Given the description of an element on the screen output the (x, y) to click on. 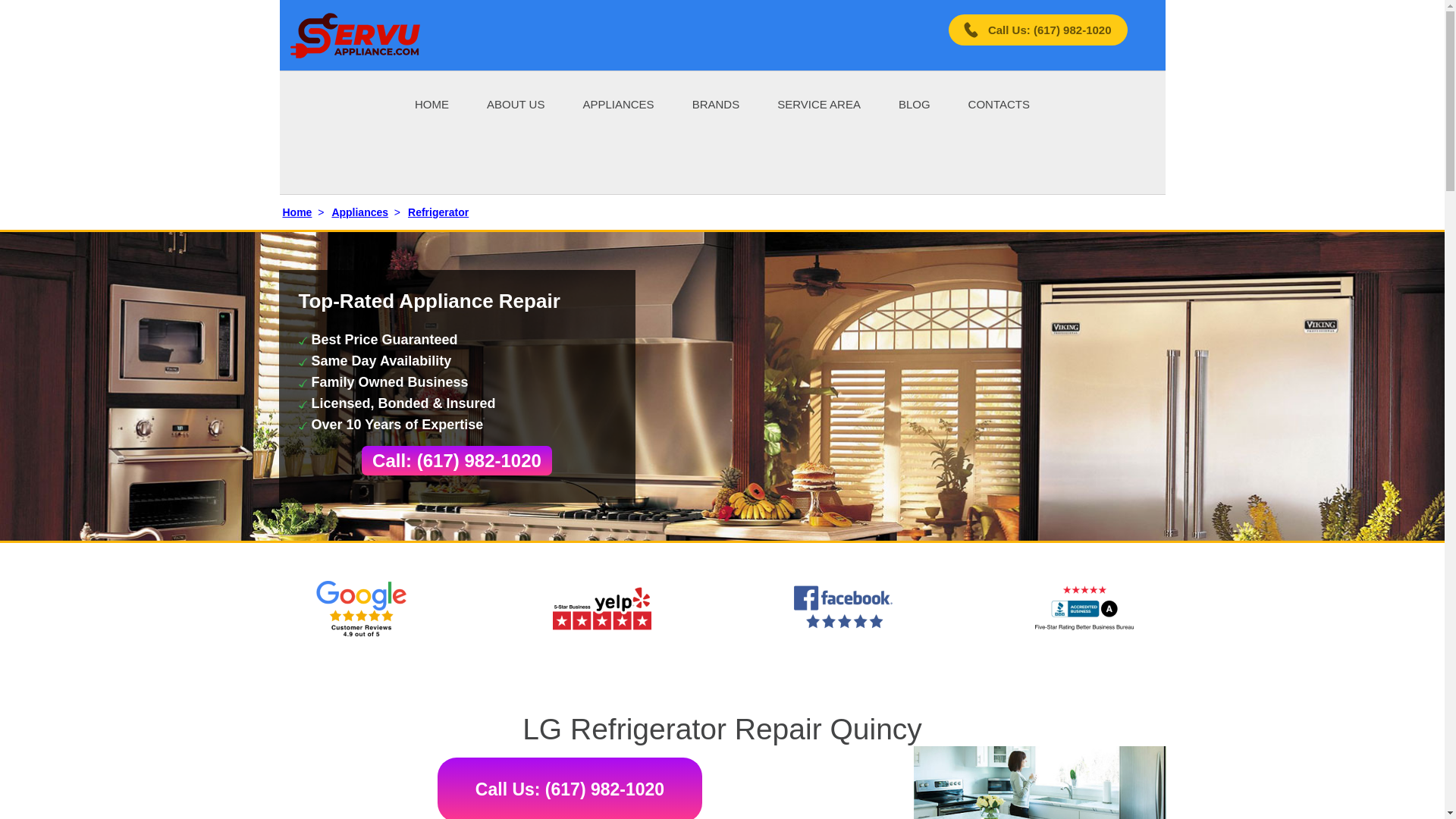
HOME (431, 103)
ABOUT US (515, 103)
BRANDS (715, 103)
APPLIANCES (617, 103)
